Given the description of an element on the screen output the (x, y) to click on. 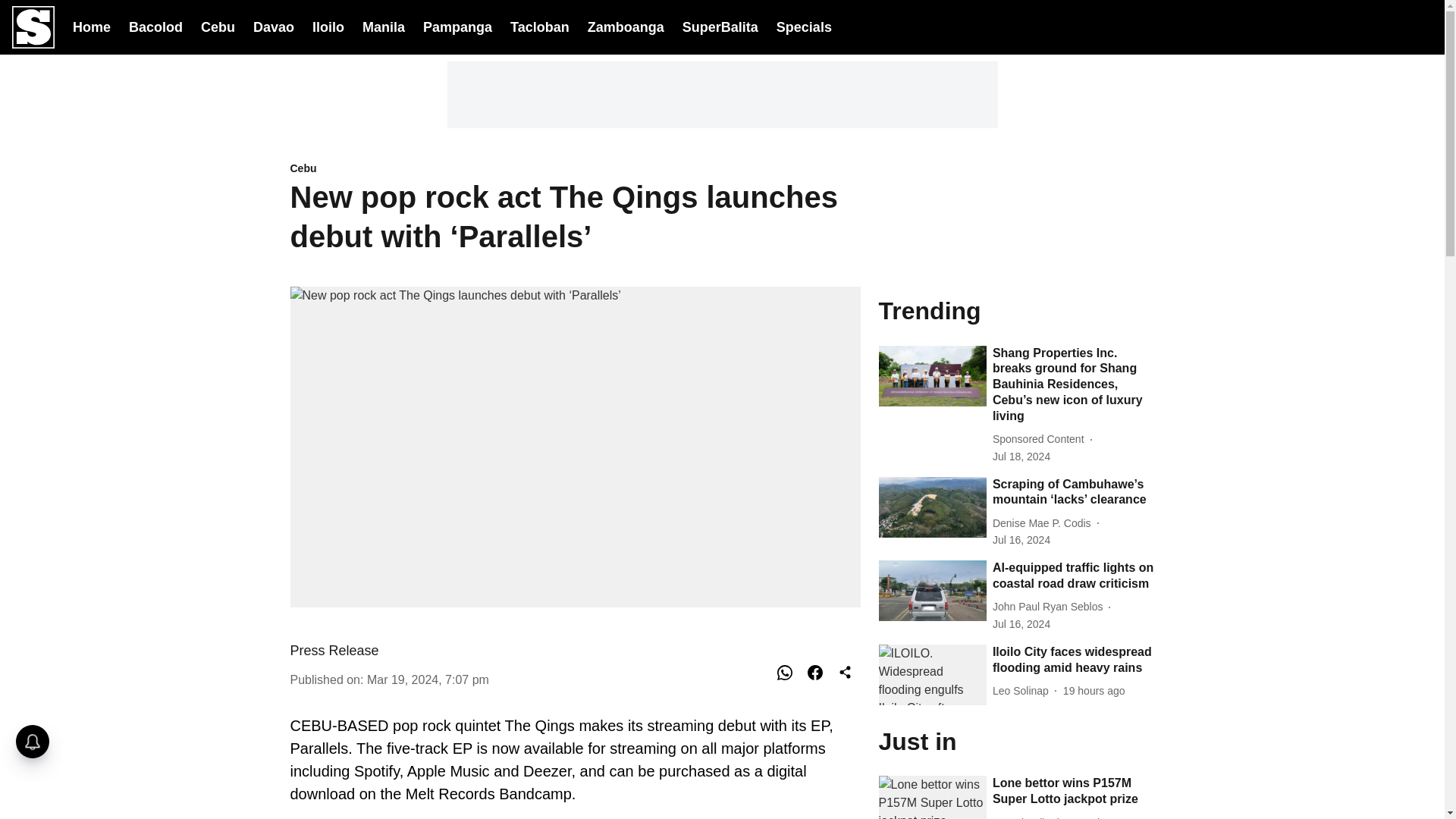
2024-07-16 14:02 (1020, 539)
Sponsored Content (1041, 439)
Tacloban (540, 26)
Home (91, 26)
Pampanga (457, 26)
Cebu (574, 169)
John Paul Ryan Seblos (1050, 606)
Denise Mae P. Codis (1044, 523)
2024-07-16 14:12 (1020, 624)
Press Release (333, 650)
Dark Mode (1382, 27)
Davao (273, 26)
SuperBalita (720, 27)
2024-07-18 02:10 (1020, 456)
